Given the description of an element on the screen output the (x, y) to click on. 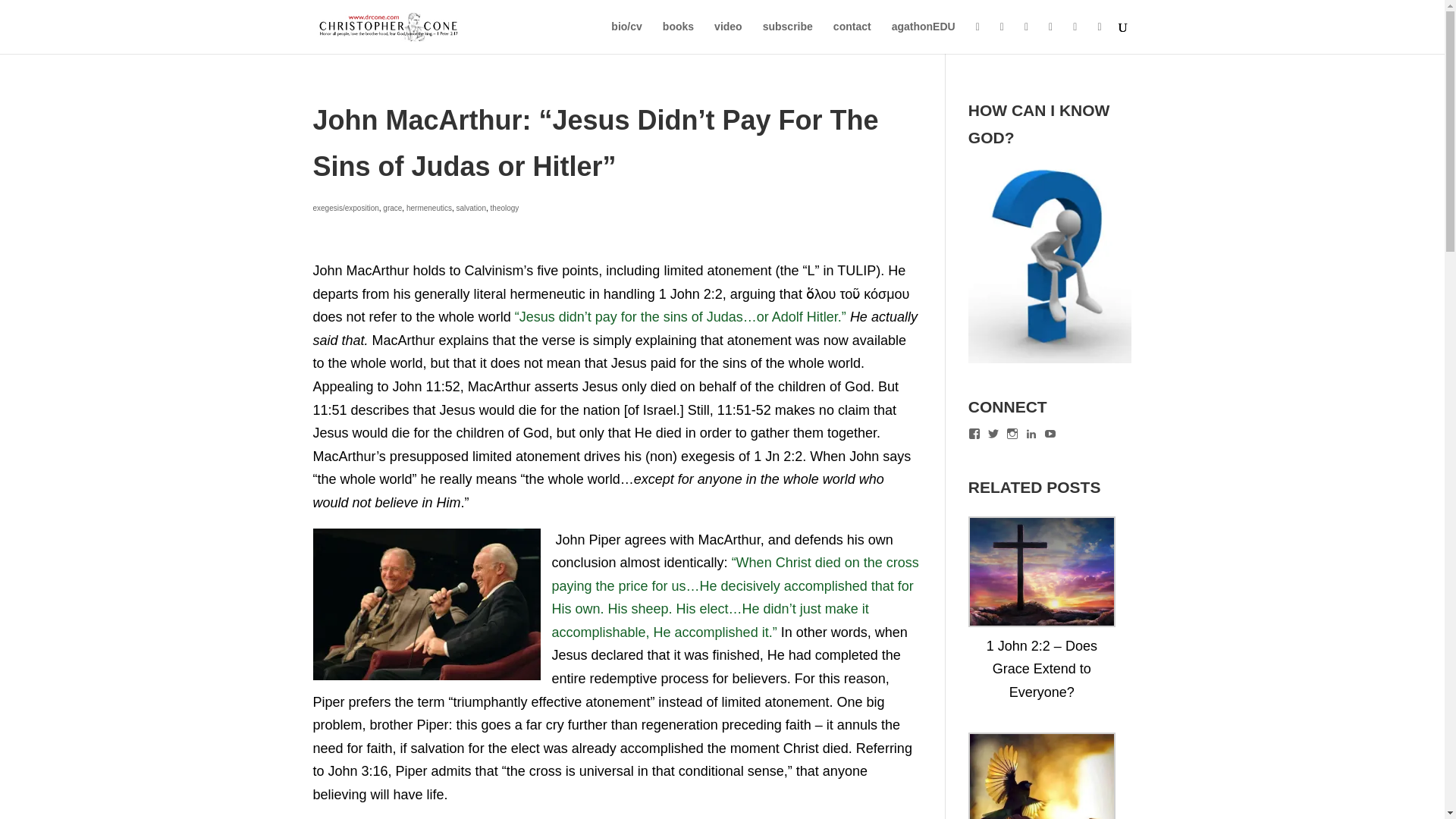
hermeneutics (428, 207)
theology (504, 207)
grace (391, 207)
agathonEDU (923, 37)
subscribe (787, 37)
salvation (471, 207)
contact (851, 37)
books (678, 37)
contact (851, 37)
subscribe (787, 37)
agathonEDU (923, 37)
books (678, 37)
